Given the description of an element on the screen output the (x, y) to click on. 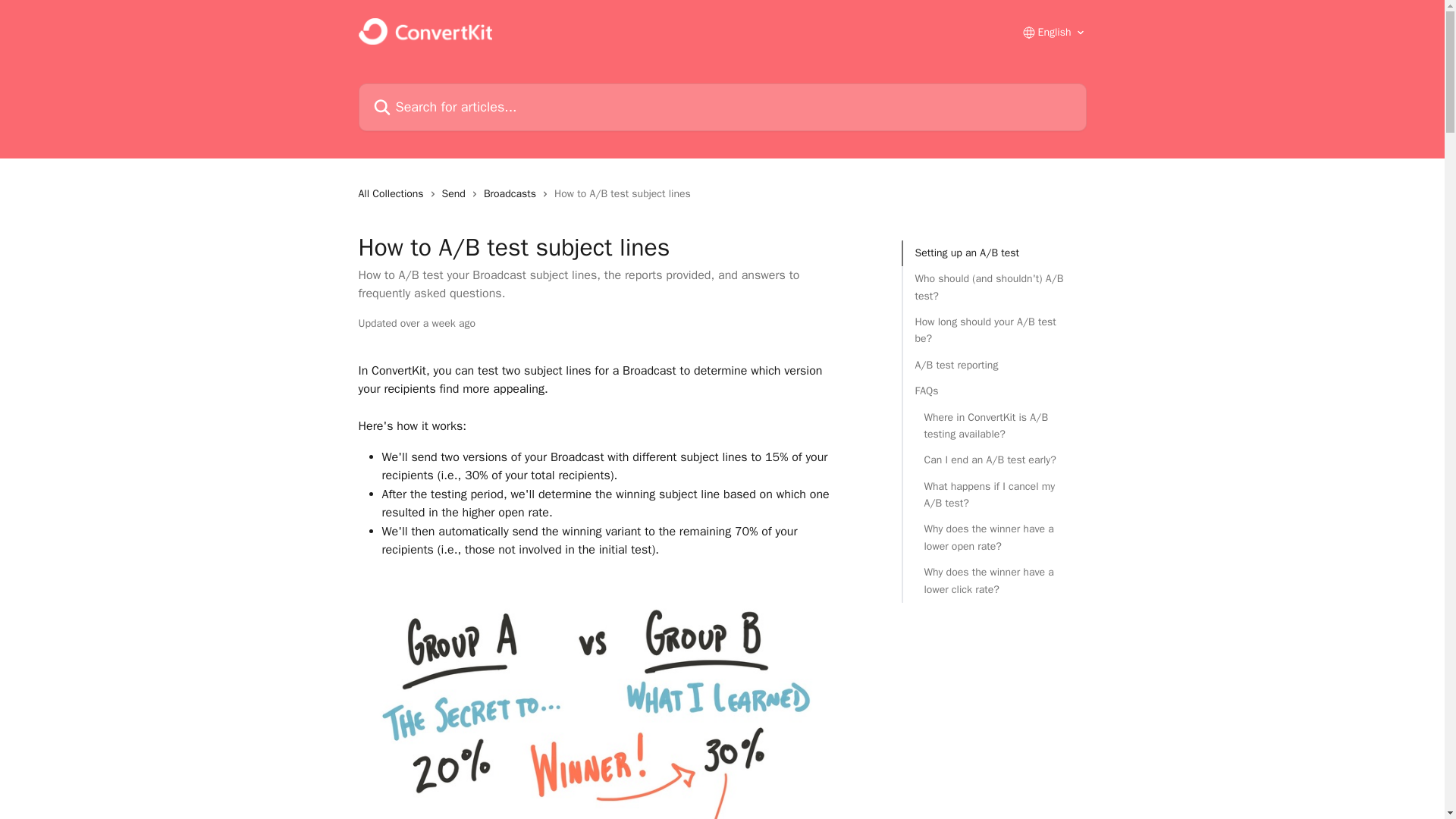
All Collections (393, 193)
Broadcasts (512, 193)
Why does the winner have a lower click rate? (993, 581)
Why does the winner have a lower open rate? (993, 537)
FAQs (994, 391)
Send (456, 193)
